Given the description of an element on the screen output the (x, y) to click on. 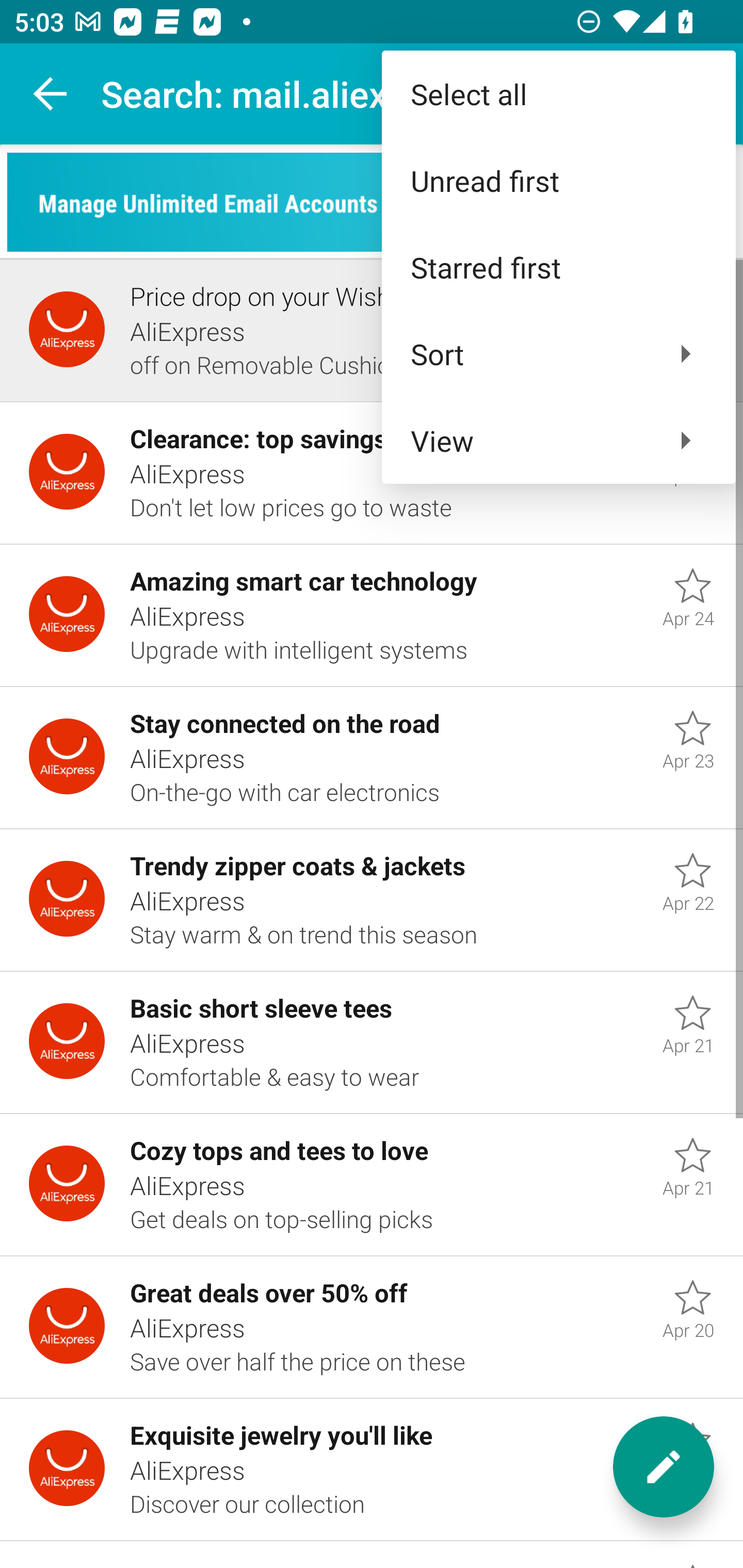
Select all (558, 93)
Unread first (558, 180)
Starred first (558, 267)
Sort (558, 353)
View (558, 440)
